Given the description of an element on the screen output the (x, y) to click on. 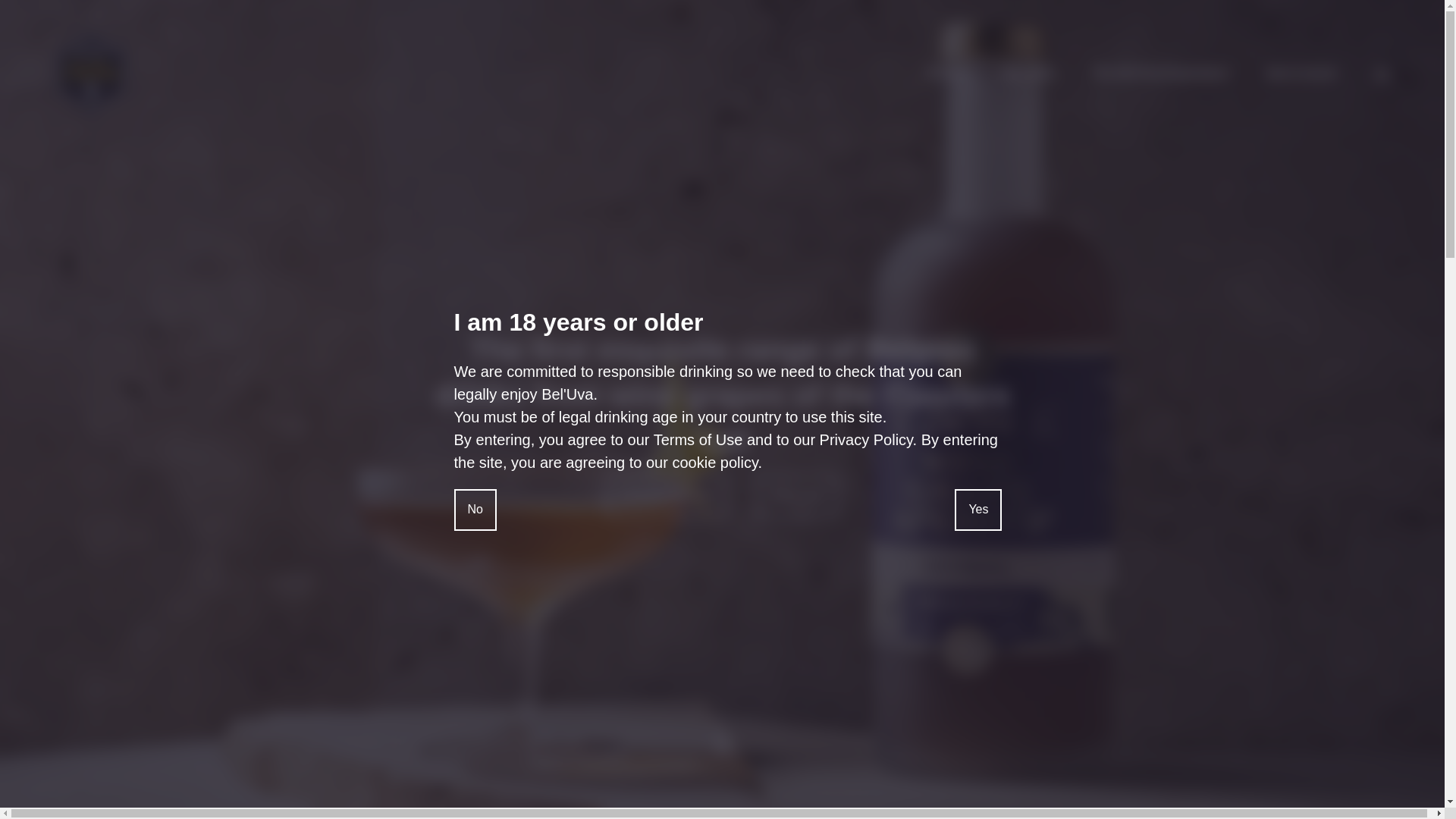
Yes Element type: text (977, 509)
Shop now Element type: text (796, 495)
The Bel'Uva Experience Element type: text (1161, 72)
Discover Bel'Uva Element type: text (665, 495)
Our story Element type: text (1028, 72)
No Element type: text (474, 509)
Get in touch Element type: text (1301, 72)
Drinks Element type: text (946, 72)
